Given the description of an element on the screen output the (x, y) to click on. 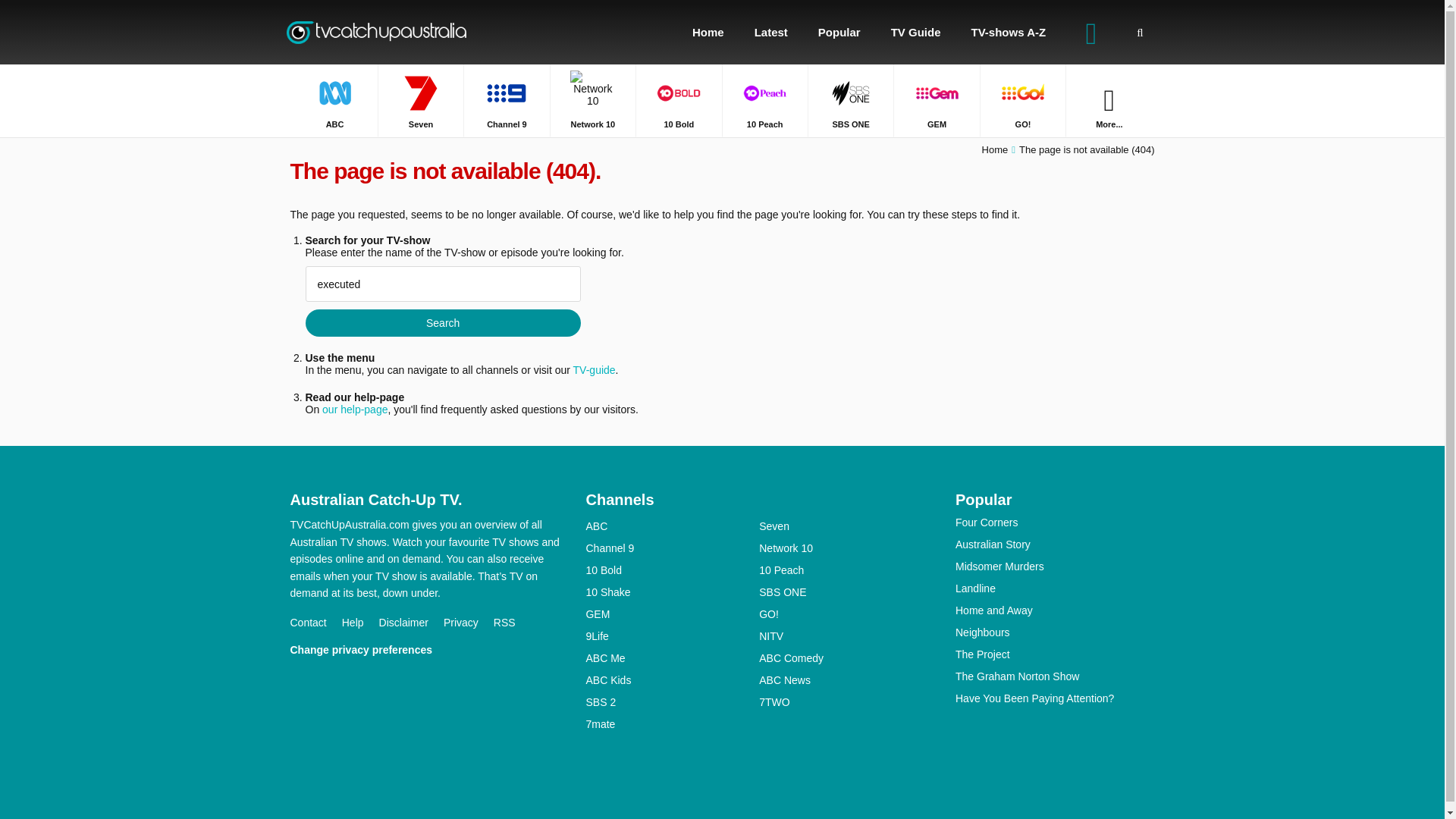
ABC (671, 526)
TV Guide (916, 32)
Privacy (468, 622)
Latest (771, 32)
Disclaimer (411, 622)
Popular (839, 32)
our help-page (354, 409)
Seven (420, 100)
More... (1108, 100)
Home (995, 149)
Change privacy preferences (367, 649)
10 Bold (678, 100)
GO! (1022, 100)
SBS ONE (850, 100)
TV-shows A-Z (1008, 32)
